Given the description of an element on the screen output the (x, y) to click on. 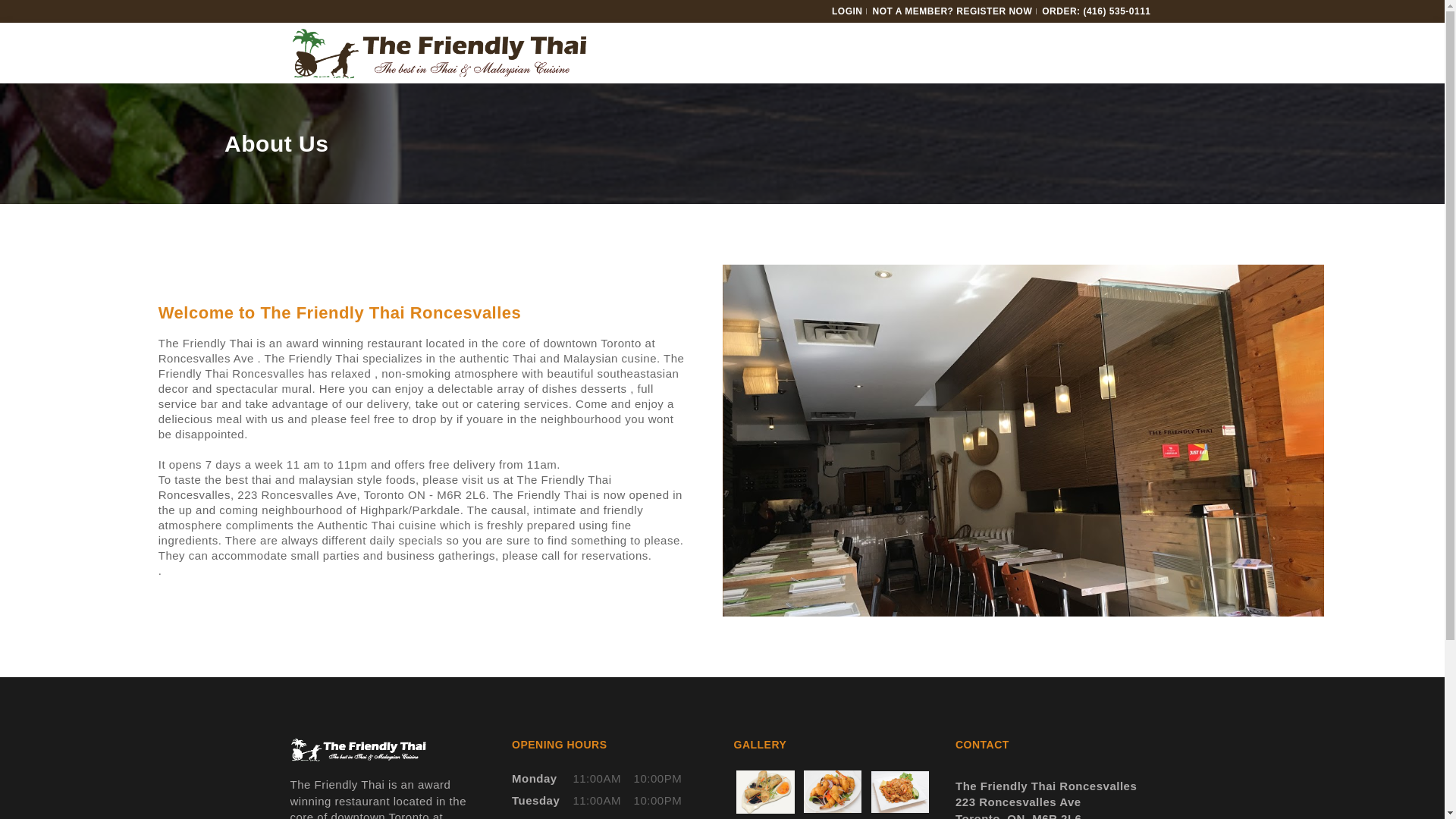
CONTACT US (1037, 113)
LOGIN (847, 10)
ABOUT US (654, 113)
RESERVATION (933, 113)
HOME (582, 113)
ORDER ONLINE (822, 113)
MENU (731, 113)
NOT A MEMBER? REGISTER NOW (952, 10)
